Given the description of an element on the screen output the (x, y) to click on. 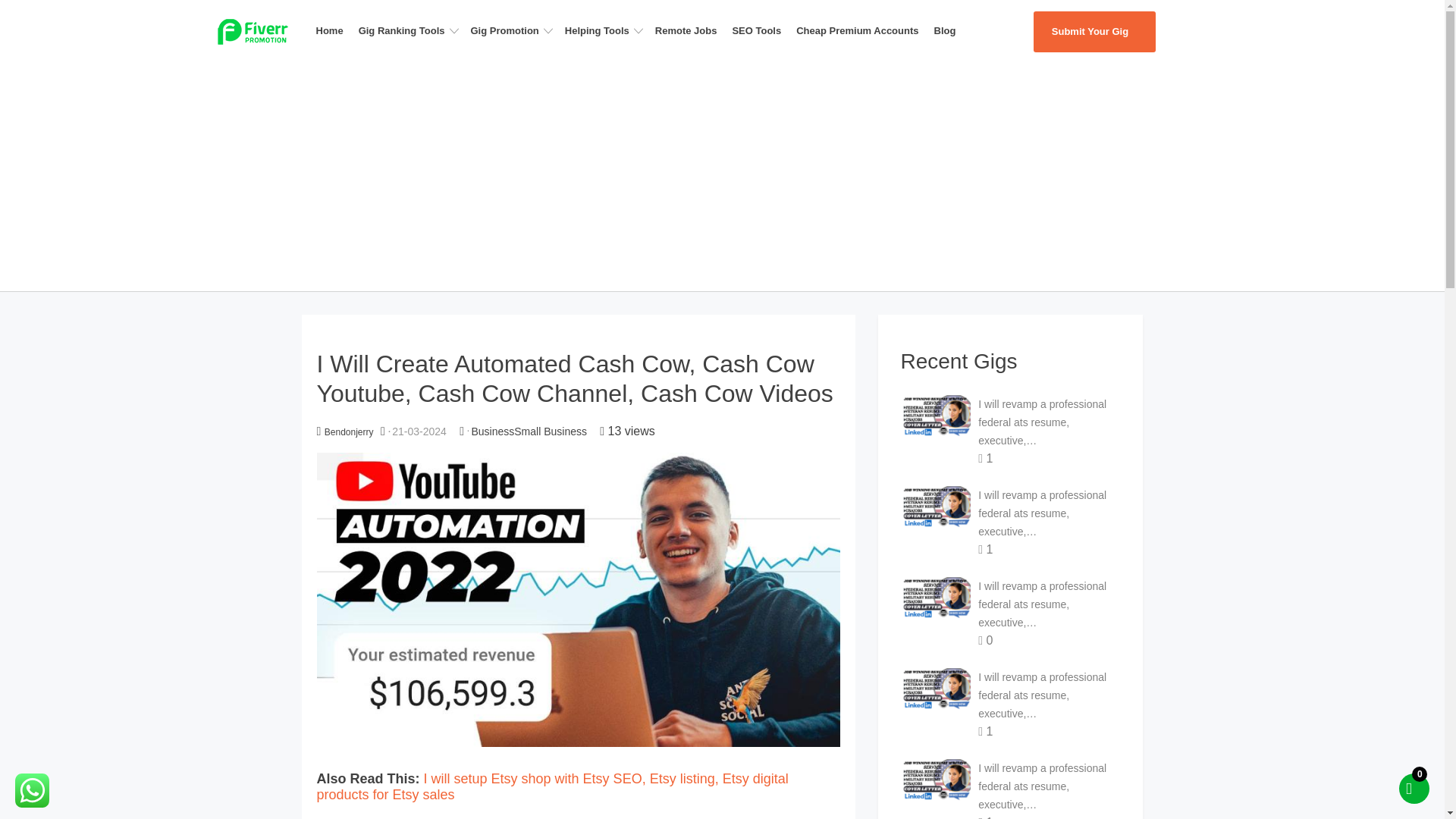
BusinessSmall Business (528, 430)
Gig Ranking Tools (411, 30)
Cheap Premium Accounts (861, 30)
Helping Tools (607, 30)
Bendonjerry (349, 430)
Blog (949, 30)
Home (334, 30)
Gig Promotion (513, 30)
21-03-2024 (418, 430)
SEO Tools (761, 30)
Remote Jobs (690, 30)
Submit Your Gig (1094, 31)
